Given the description of an element on the screen output the (x, y) to click on. 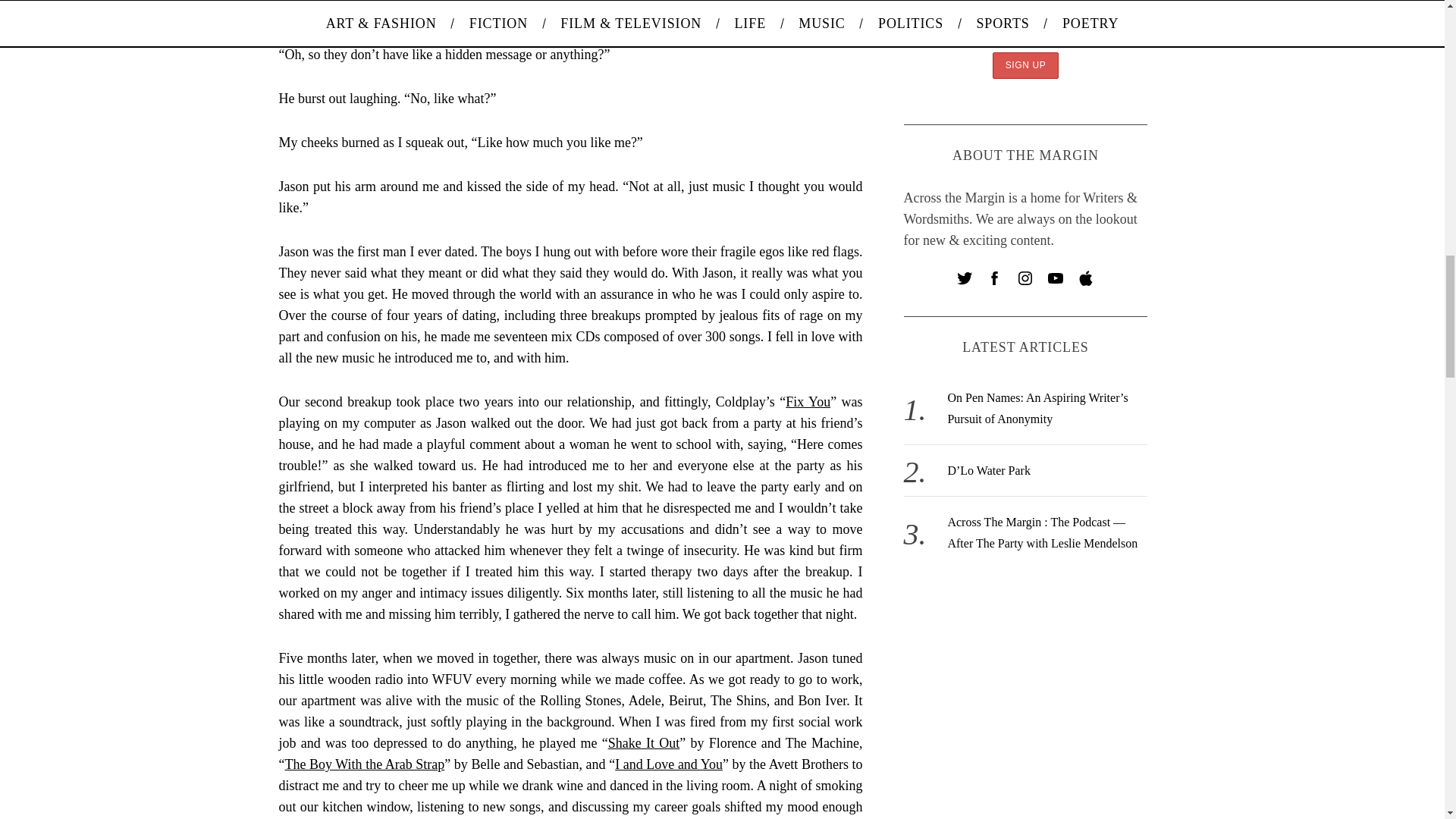
I and Love and You (668, 764)
Fix You (807, 401)
Shake It Out (643, 743)
Sign up (1025, 65)
The Boy With the Arab Strap (365, 764)
